Given the description of an element on the screen output the (x, y) to click on. 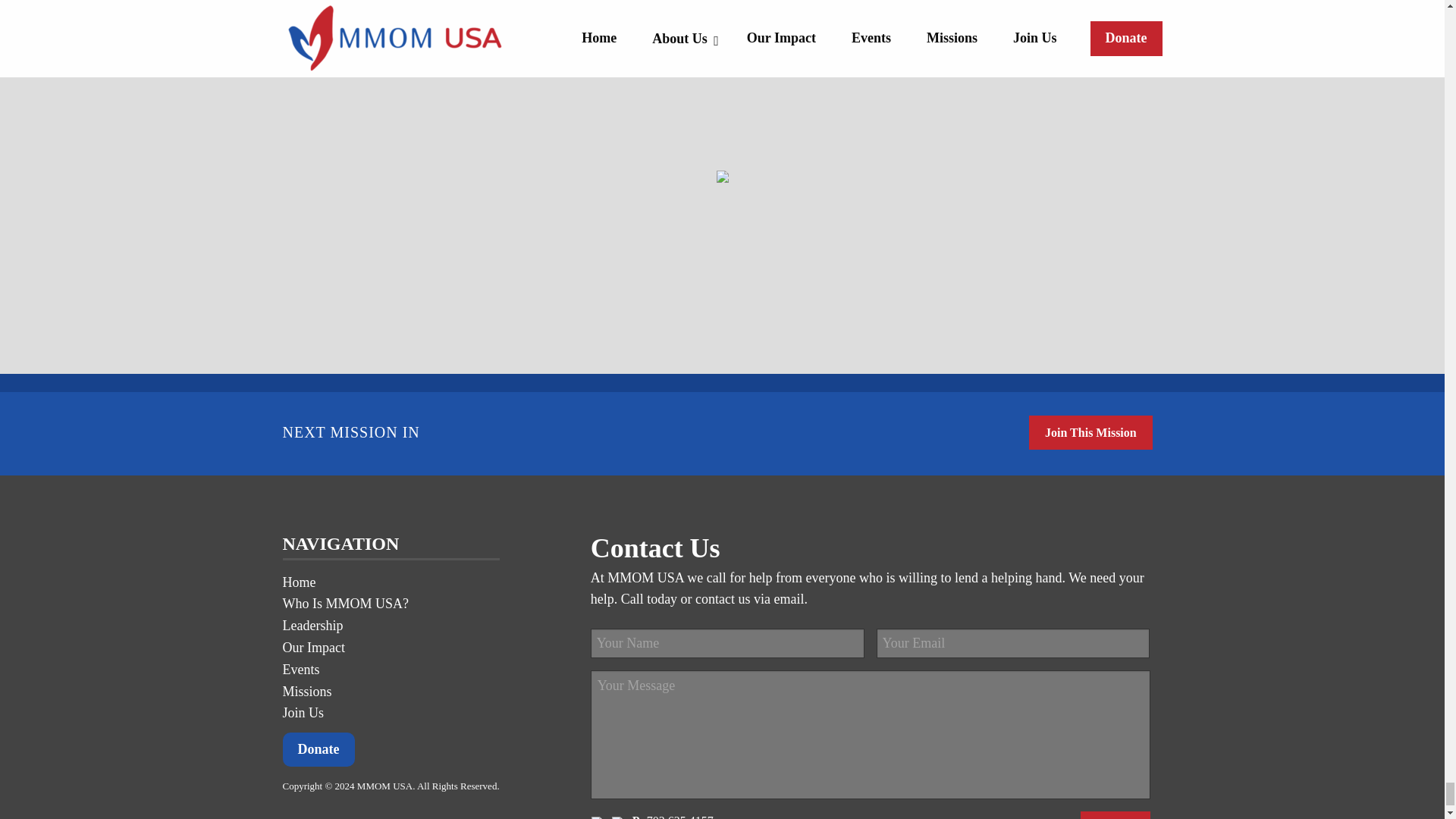
Missions (306, 691)
Home (298, 581)
Our Impact (312, 647)
Join This Mission (1091, 432)
Donate (317, 749)
Join Us (302, 712)
Events (300, 669)
Who Is MMOM USA? (345, 603)
Leadership (312, 625)
